Given the description of an element on the screen output the (x, y) to click on. 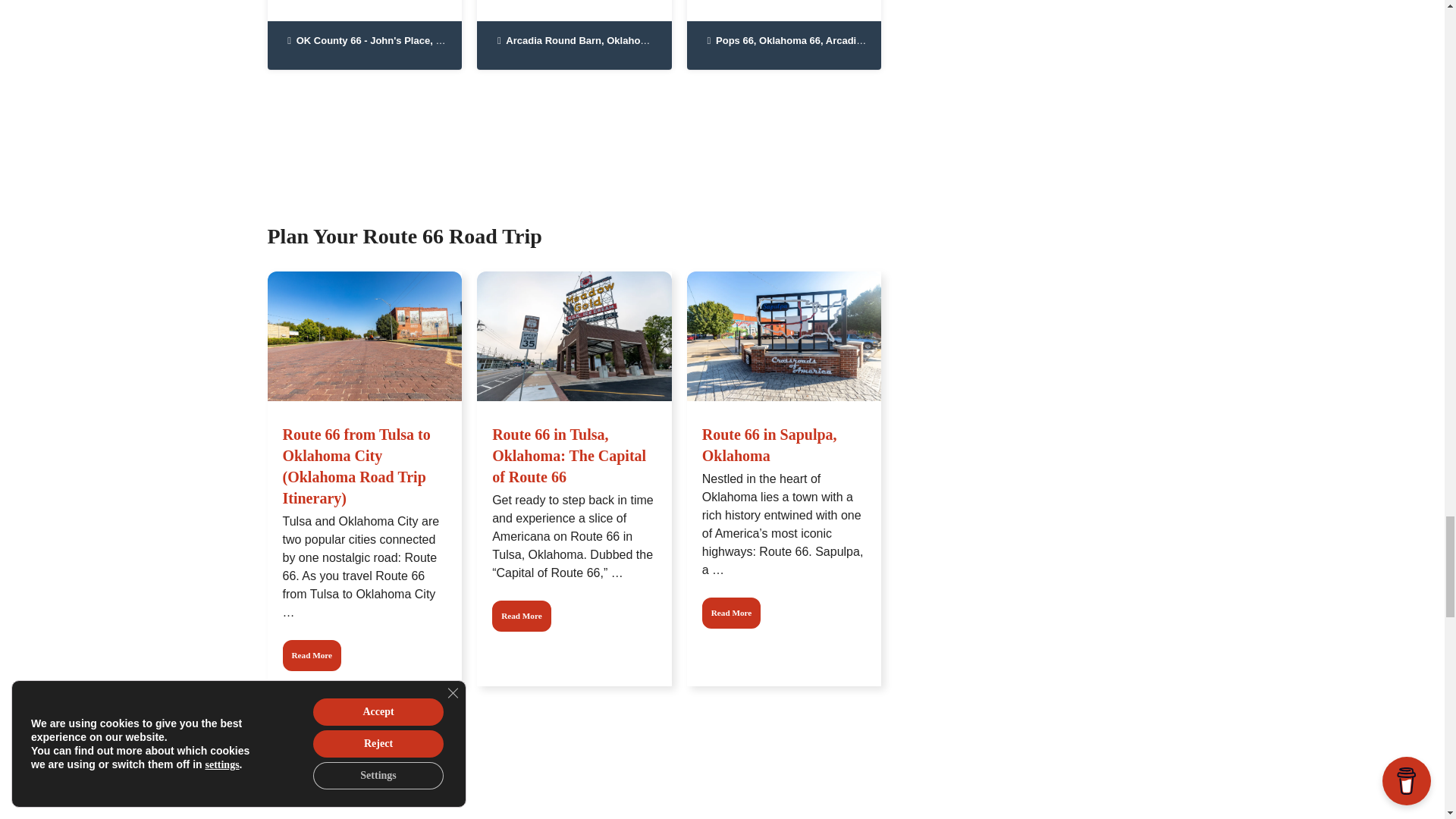
Route 66 in Tulsa, Oklahoma: The Capital of Route 66 (521, 615)
Route 66 in Sapulpa, Oklahoma (731, 612)
